Given the description of an element on the screen output the (x, y) to click on. 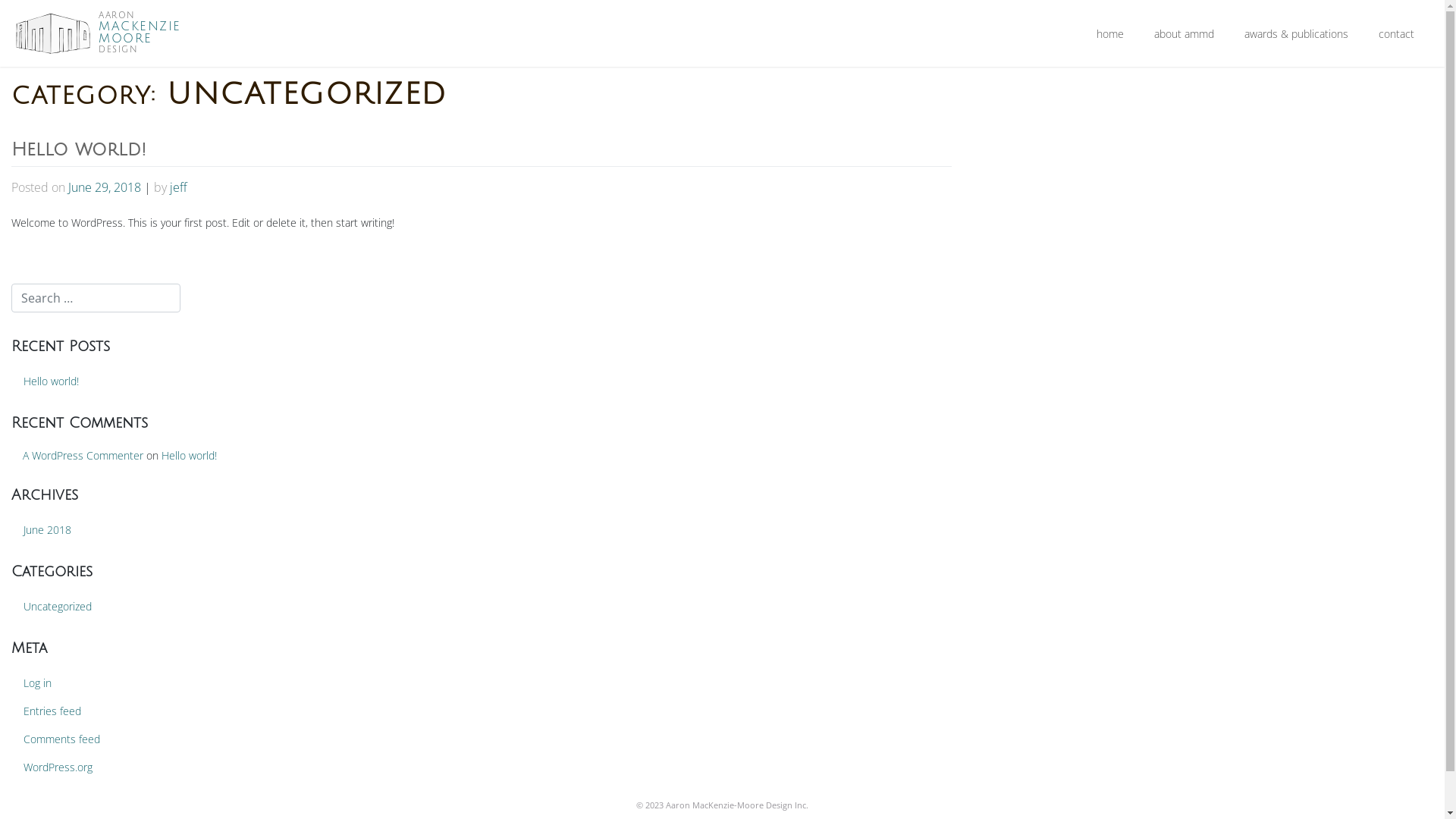
Hello world! Element type: text (188, 455)
Hello world! Element type: text (240, 381)
contact Element type: text (1396, 33)
Search for: Element type: hover (95, 297)
June 29, 2018 Element type: text (104, 186)
Uncategorized Element type: text (57, 606)
awards & publications Element type: text (1296, 33)
Comments feed Element type: text (240, 738)
WordPress.org Element type: text (240, 767)
Aaron MacKenzie-Moore Design Inc. Element type: text (736, 804)
A WordPress Commenter Element type: text (82, 455)
about ammd Element type: text (1184, 33)
Entries feed Element type: text (240, 710)
Hello world! Element type: text (78, 149)
Search Element type: text (29, 14)
jeff Element type: text (178, 186)
home Element type: text (1110, 33)
AARON
MACKENZIE
MOORE
DESIGN Element type: text (137, 33)
Log in Element type: text (240, 682)
June 2018 Element type: text (240, 529)
